Given the description of an element on the screen output the (x, y) to click on. 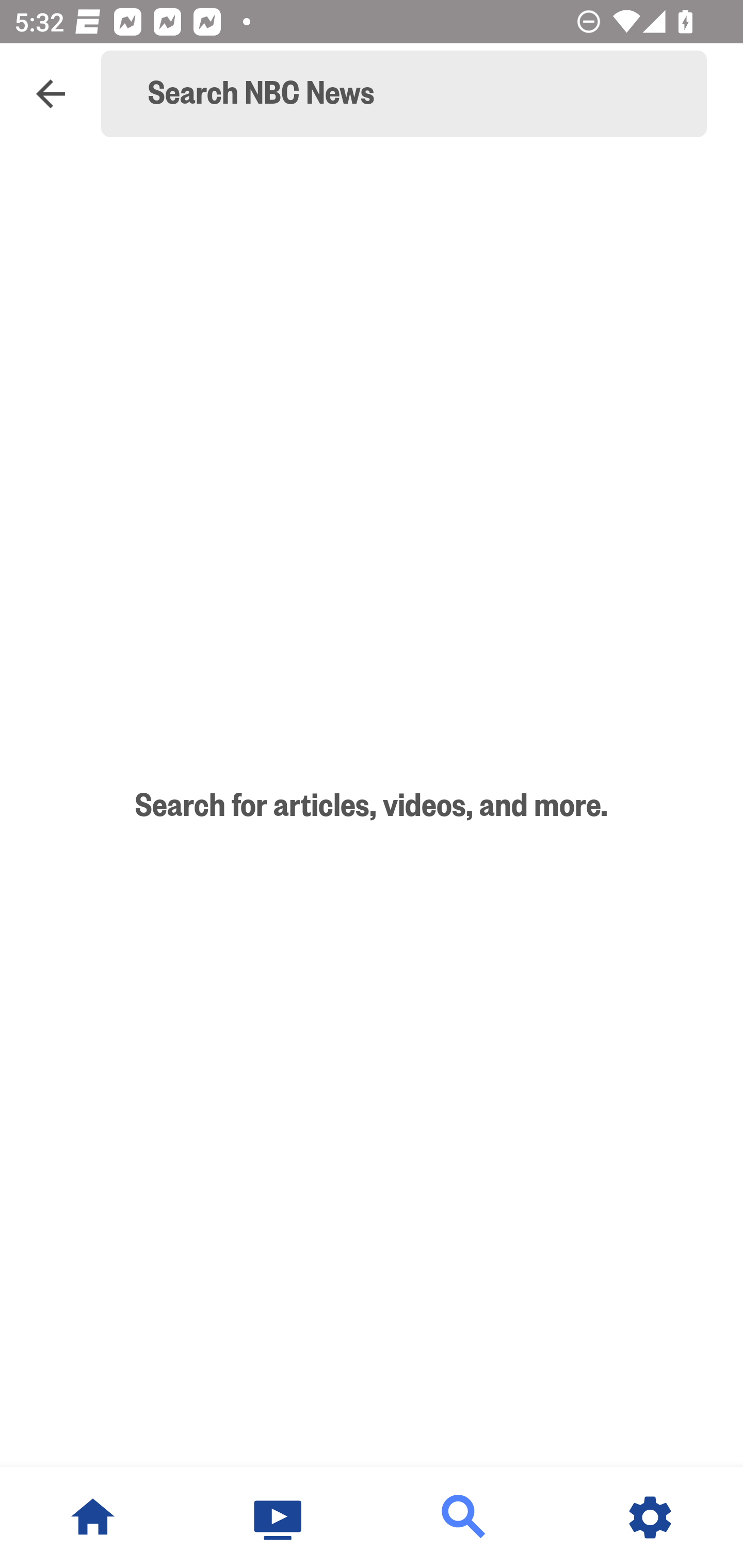
Navigate up (50, 93)
Search NBC News (412, 94)
NBC News Home (92, 1517)
Watch (278, 1517)
Settings (650, 1517)
